Given the description of an element on the screen output the (x, y) to click on. 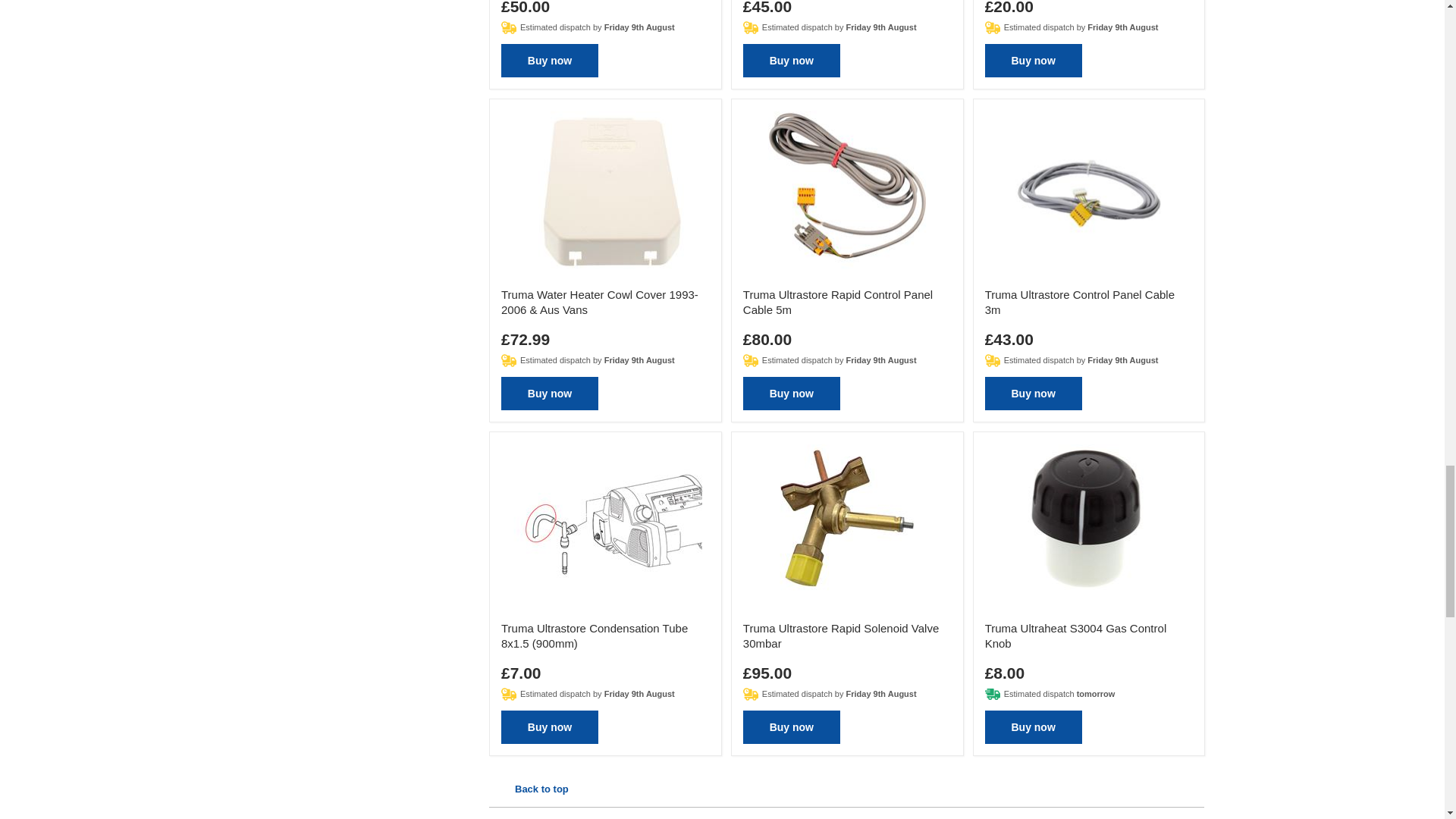
Back to top (529, 789)
